Given the description of an element on the screen output the (x, y) to click on. 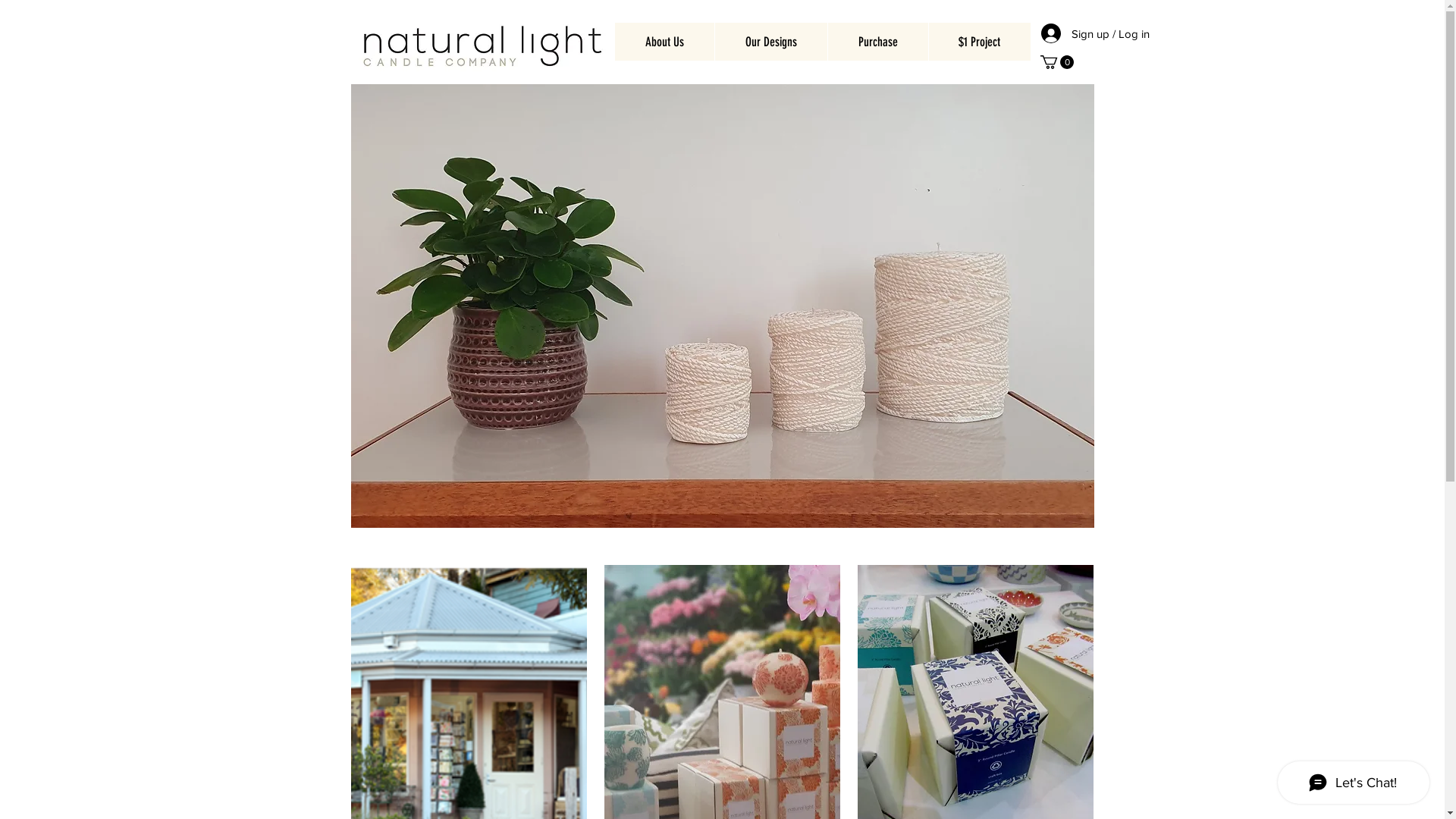
Sign up / Log in Element type: text (1061, 32)
0 Element type: text (1056, 62)
About Us Element type: text (663, 41)
